Given the description of an element on the screen output the (x, y) to click on. 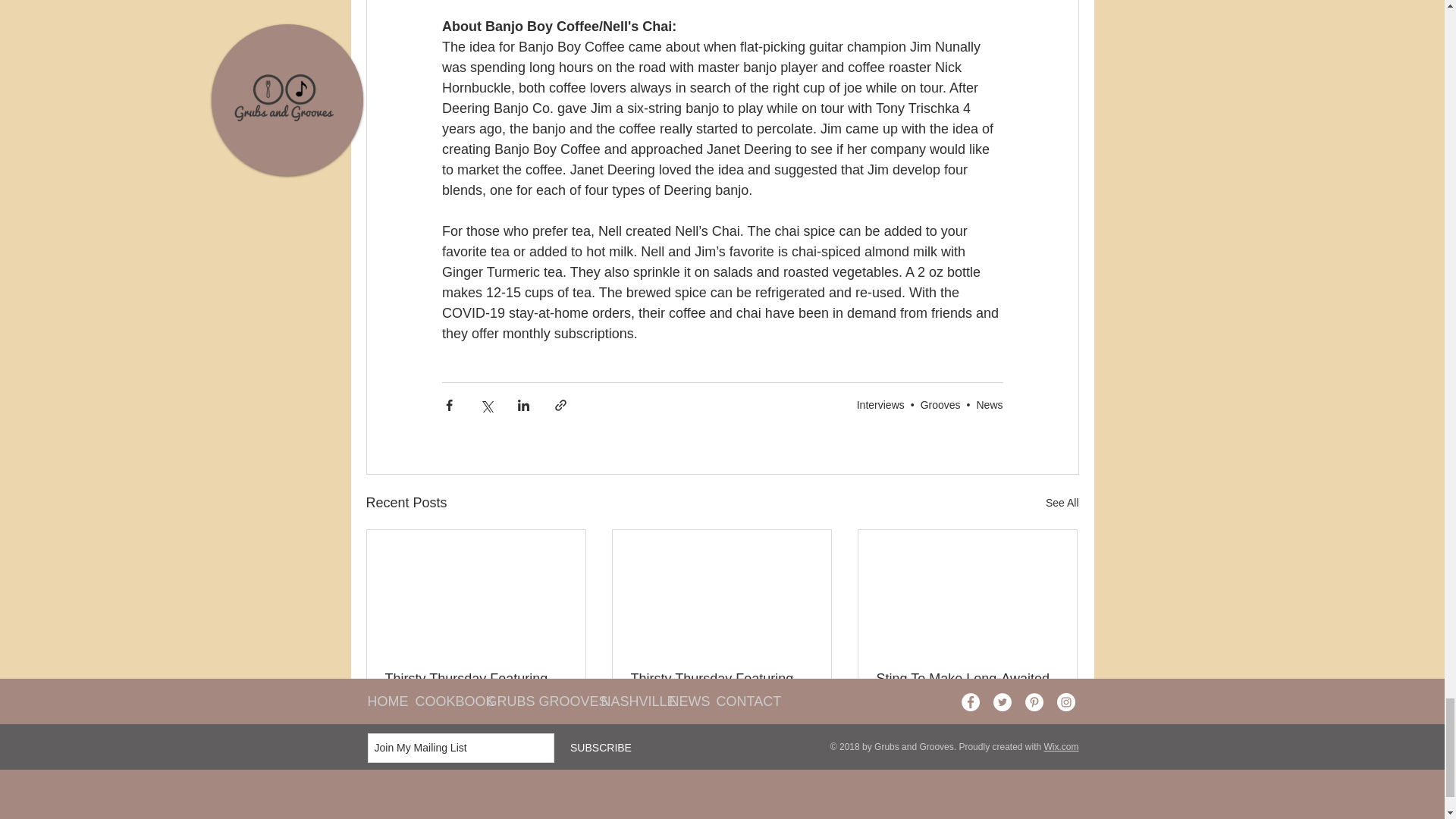
See All (1061, 503)
Interviews (880, 404)
Thirsty Thursday Featuring Robert Ross (476, 686)
News (989, 404)
Thirsty Thursday Featuring Moy Cohen (721, 686)
Grooves (940, 404)
